Given the description of an element on the screen output the (x, y) to click on. 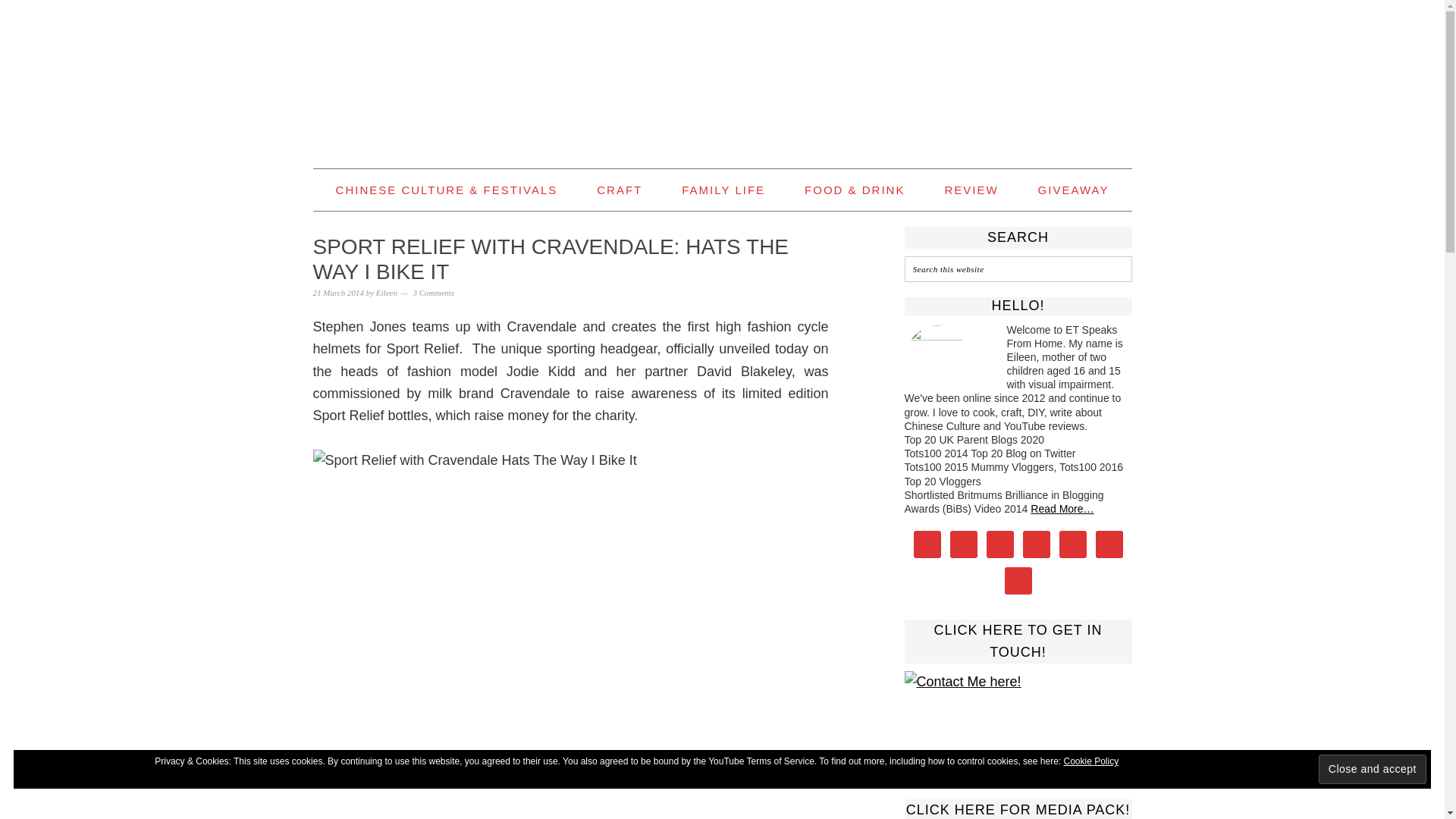
Close and accept (1372, 768)
FAMILY LIFE (723, 189)
CRAFT (619, 189)
REVIEW (970, 189)
Click here to get in touch! (1017, 718)
ET SPEAKS FROM HOME (722, 77)
